Given the description of an element on the screen output the (x, y) to click on. 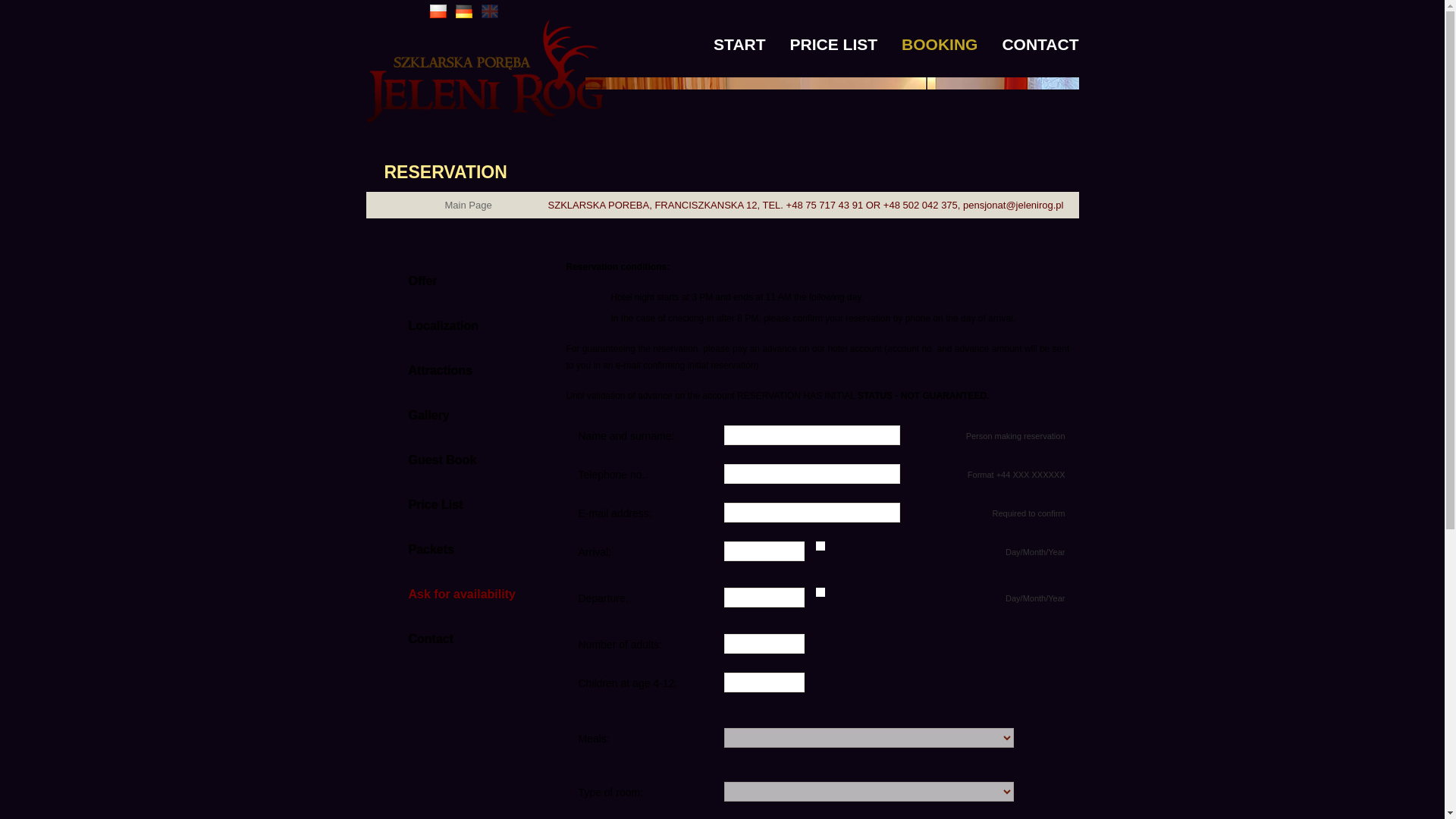
Ask for availability (448, 593)
Offer (448, 280)
Packets (448, 549)
BOOKING (938, 31)
Attractions (448, 370)
PRICE LIST (833, 31)
Main Page (443, 204)
Localization (448, 325)
Gallery (448, 415)
Guest Book (448, 459)
